Given the description of an element on the screen output the (x, y) to click on. 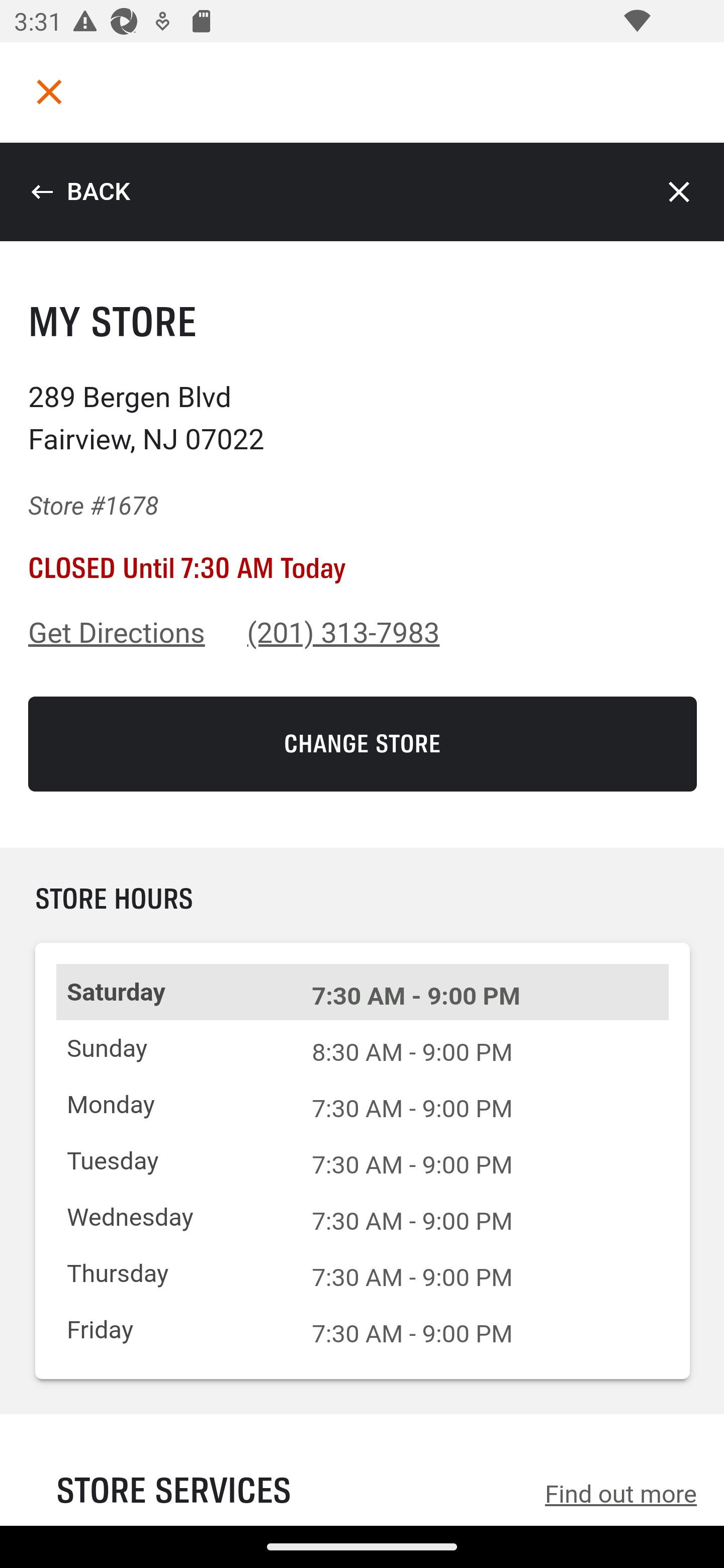
 (49, 91)
BACK (79, 192)
Close (679, 192)
Batteries Batteries Batteries (362, 450)
Engine Oil Engine Oil Engine Oil (362, 521)
Brake Pads Brake Pads Brake Pads (362, 594)
(201) 313-7983 (343, 633)
CHANGE STORE (363, 743)
Auto Parts (362, 949)
Close icon Get the AutoZone App OPEN (362, 1456)
